Given the description of an element on the screen output the (x, y) to click on. 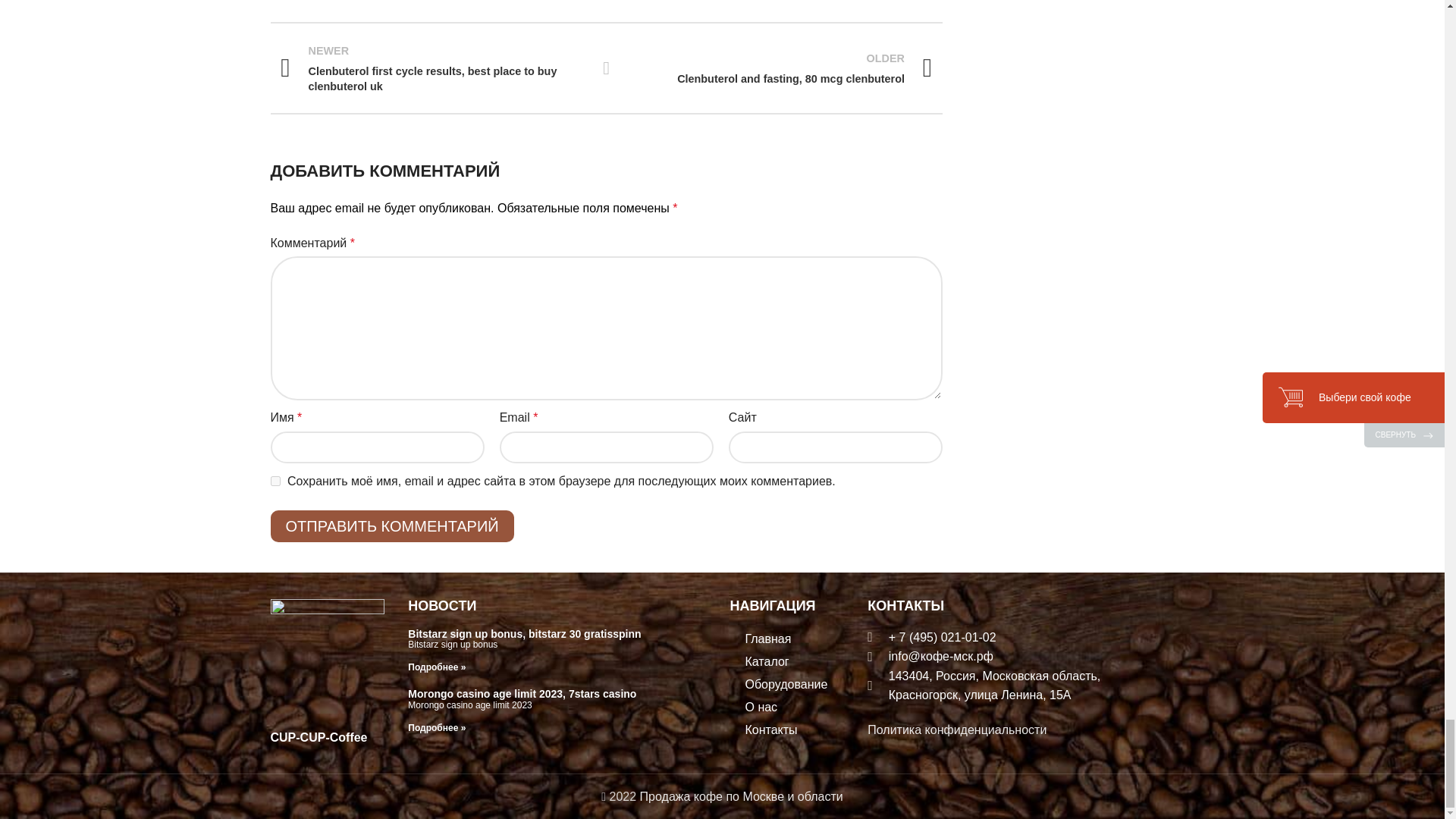
Back to list (606, 67)
yes (779, 67)
